Given the description of an element on the screen output the (x, y) to click on. 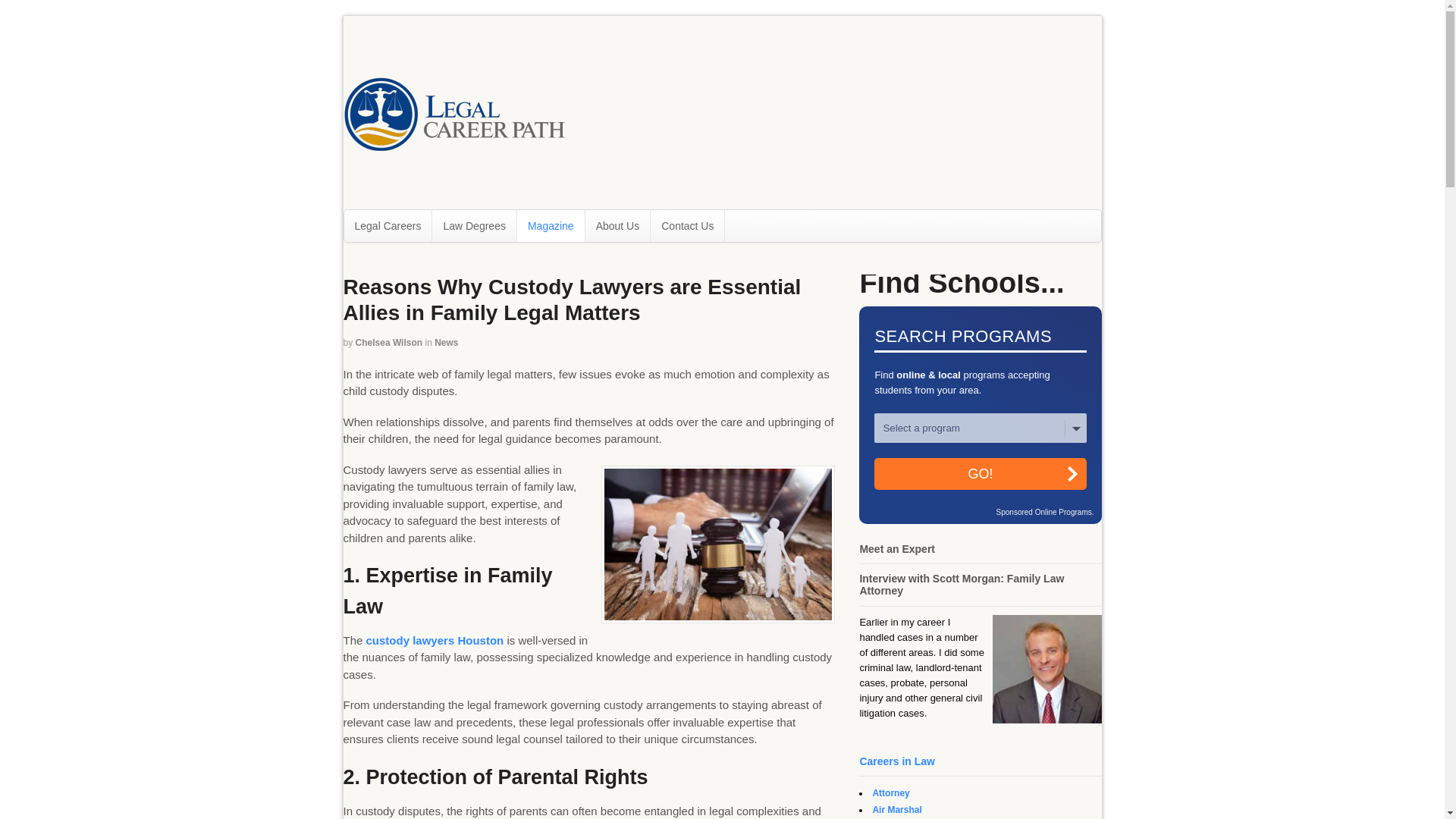
Chelsea Wilson (389, 342)
custody lawyers Houston (434, 640)
Contact Us (686, 225)
Posts by Chelsea Wilson (389, 342)
News (445, 342)
Magazine (550, 225)
Law Degrees (474, 225)
Attorney (890, 792)
Air Marshal (896, 809)
Careers in Law (896, 761)
